Given the description of an element on the screen output the (x, y) to click on. 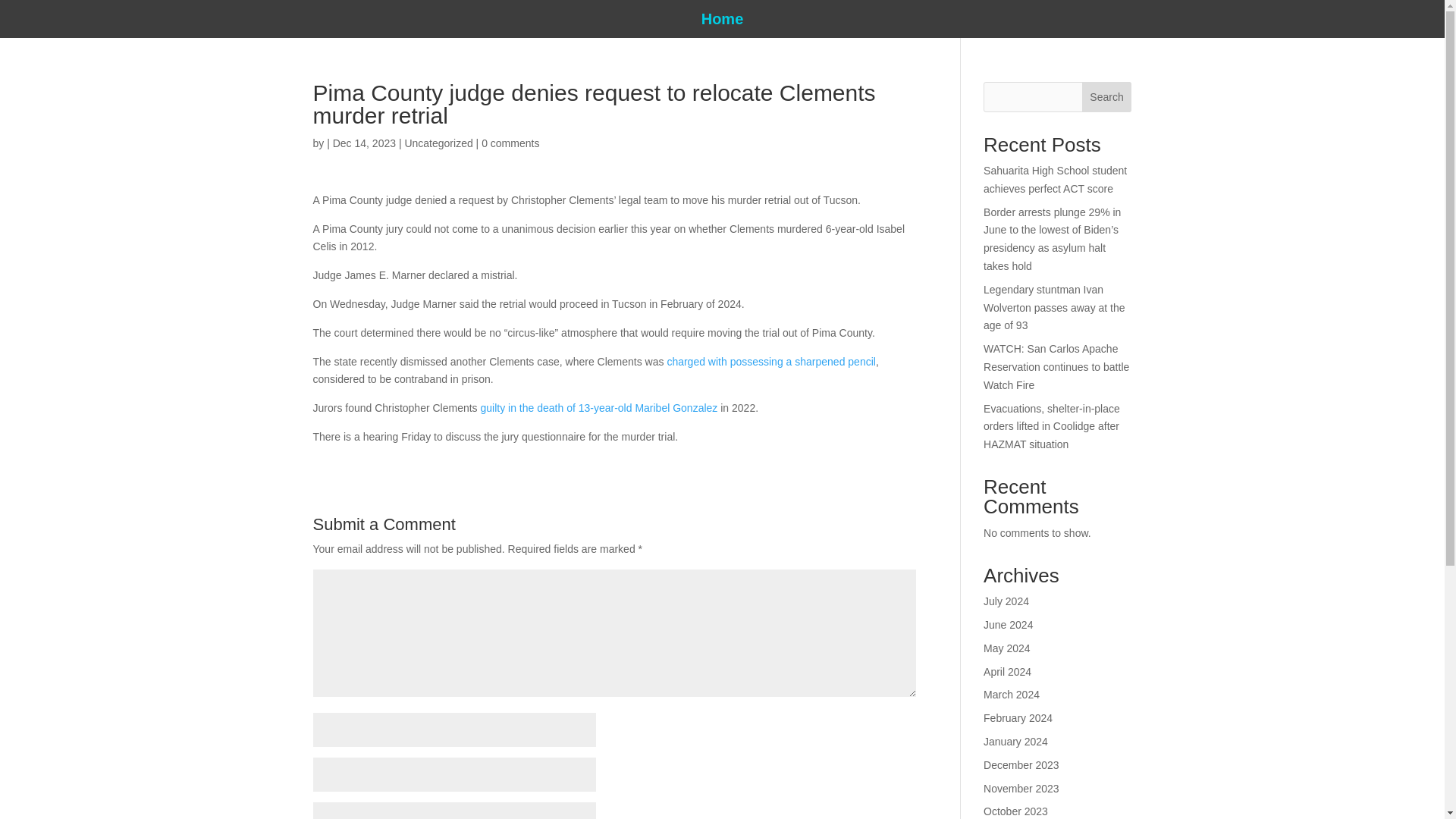
charged with possessing a sharpened pencil (771, 361)
February 2024 (1018, 717)
May 2024 (1006, 648)
December 2023 (1021, 765)
Search (1106, 96)
March 2024 (1011, 694)
guilty in the death of 13-year-old Maribel Gonzalez (598, 408)
Uncategorized (437, 143)
October 2023 (1016, 811)
0 comments (509, 143)
April 2024 (1007, 671)
June 2024 (1008, 624)
January 2024 (1016, 741)
